Given the description of an element on the screen output the (x, y) to click on. 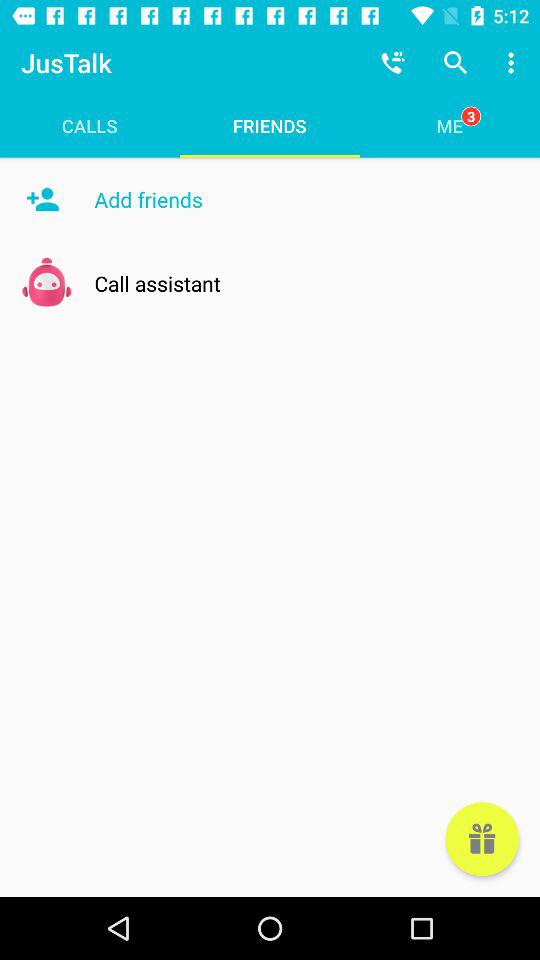
view gifts/rewards (482, 839)
